Given the description of an element on the screen output the (x, y) to click on. 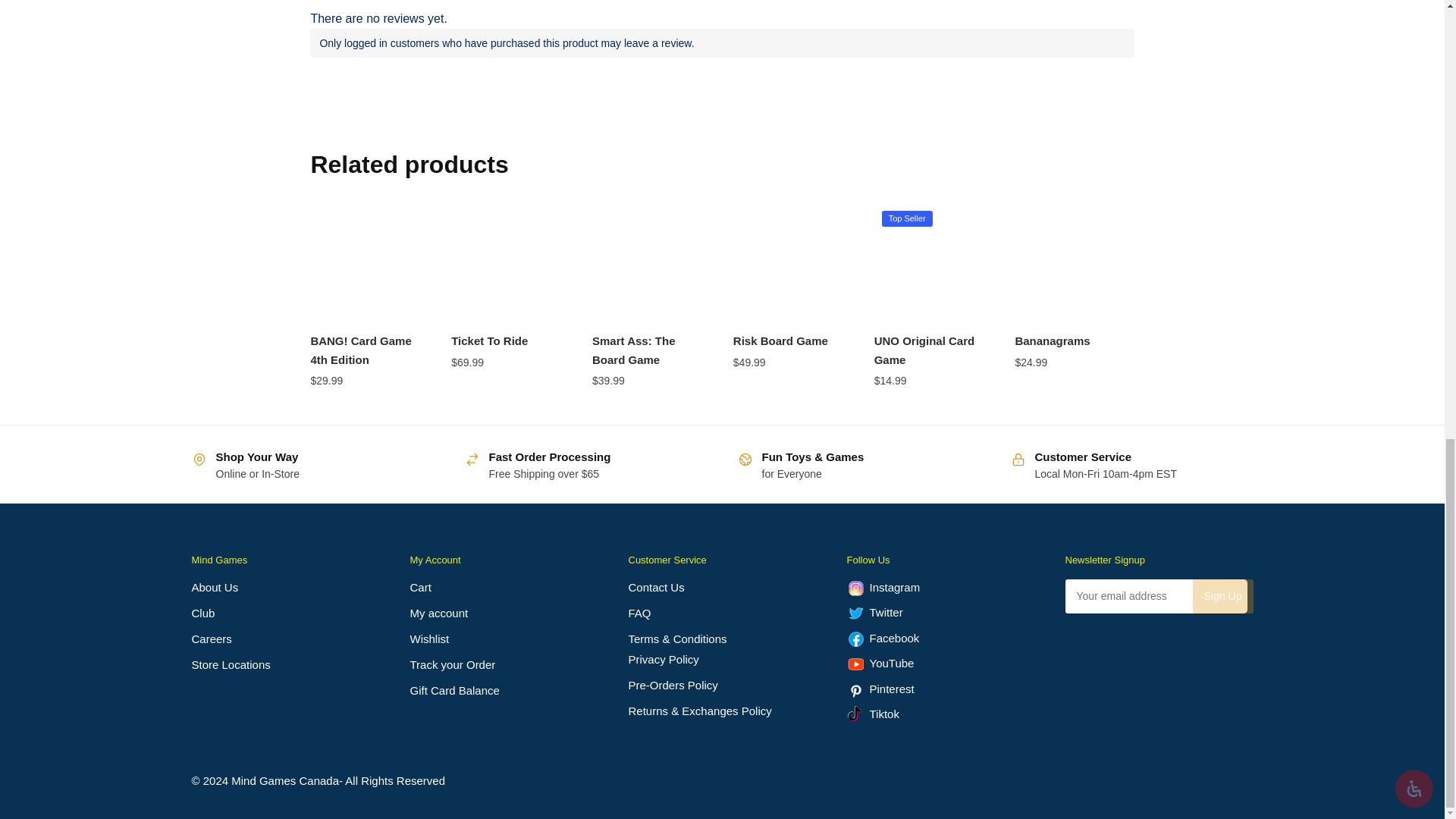
Sign up (1222, 596)
Ticket To Ride (510, 262)
BANG! Card Game 4th Edition (369, 262)
Smart Ass: The Board Game (651, 262)
Risk Board Game (792, 262)
UNO Original Card Game (933, 262)
